Given the description of an element on the screen output the (x, y) to click on. 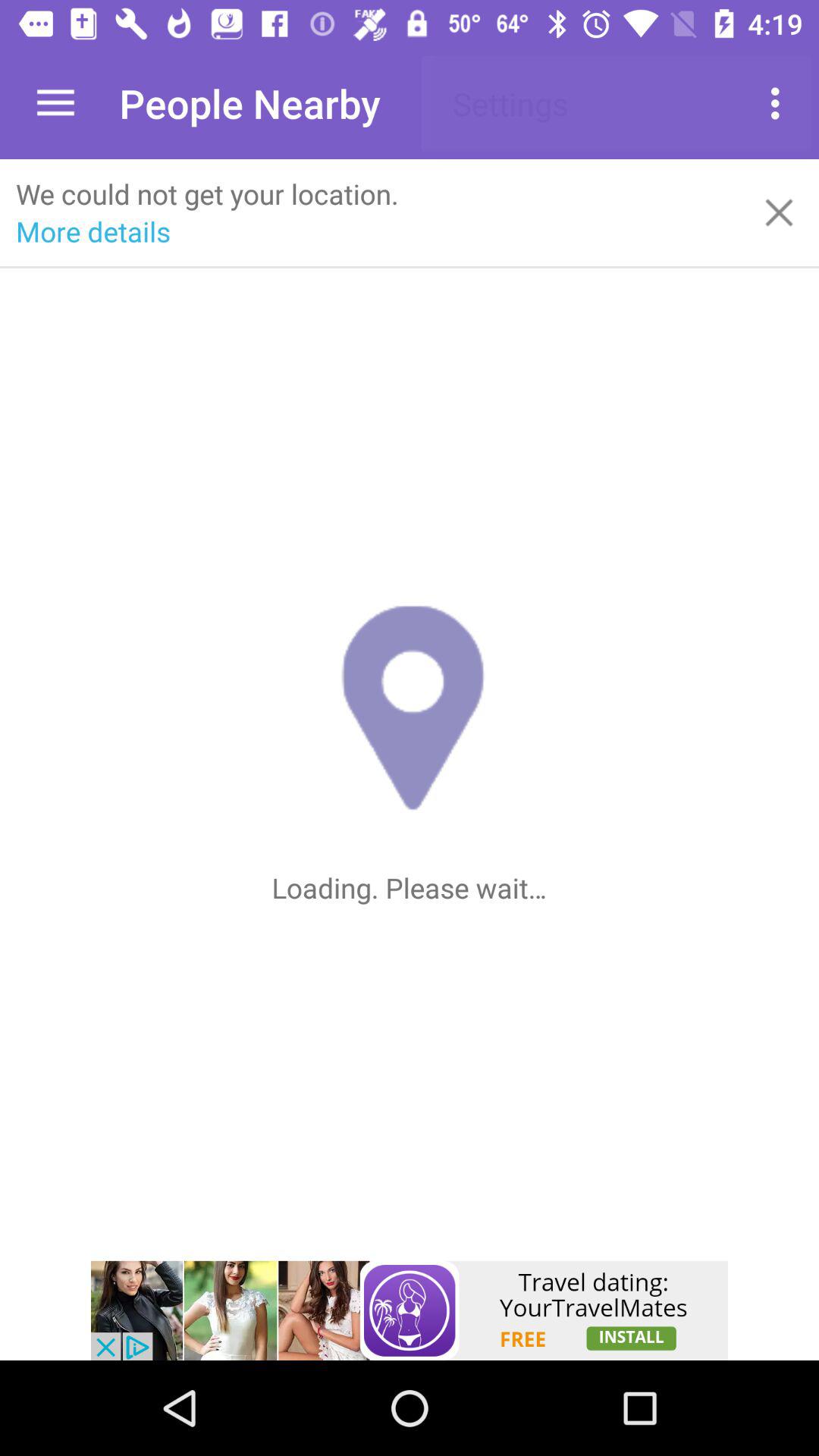
close window (779, 212)
